Given the description of an element on the screen output the (x, y) to click on. 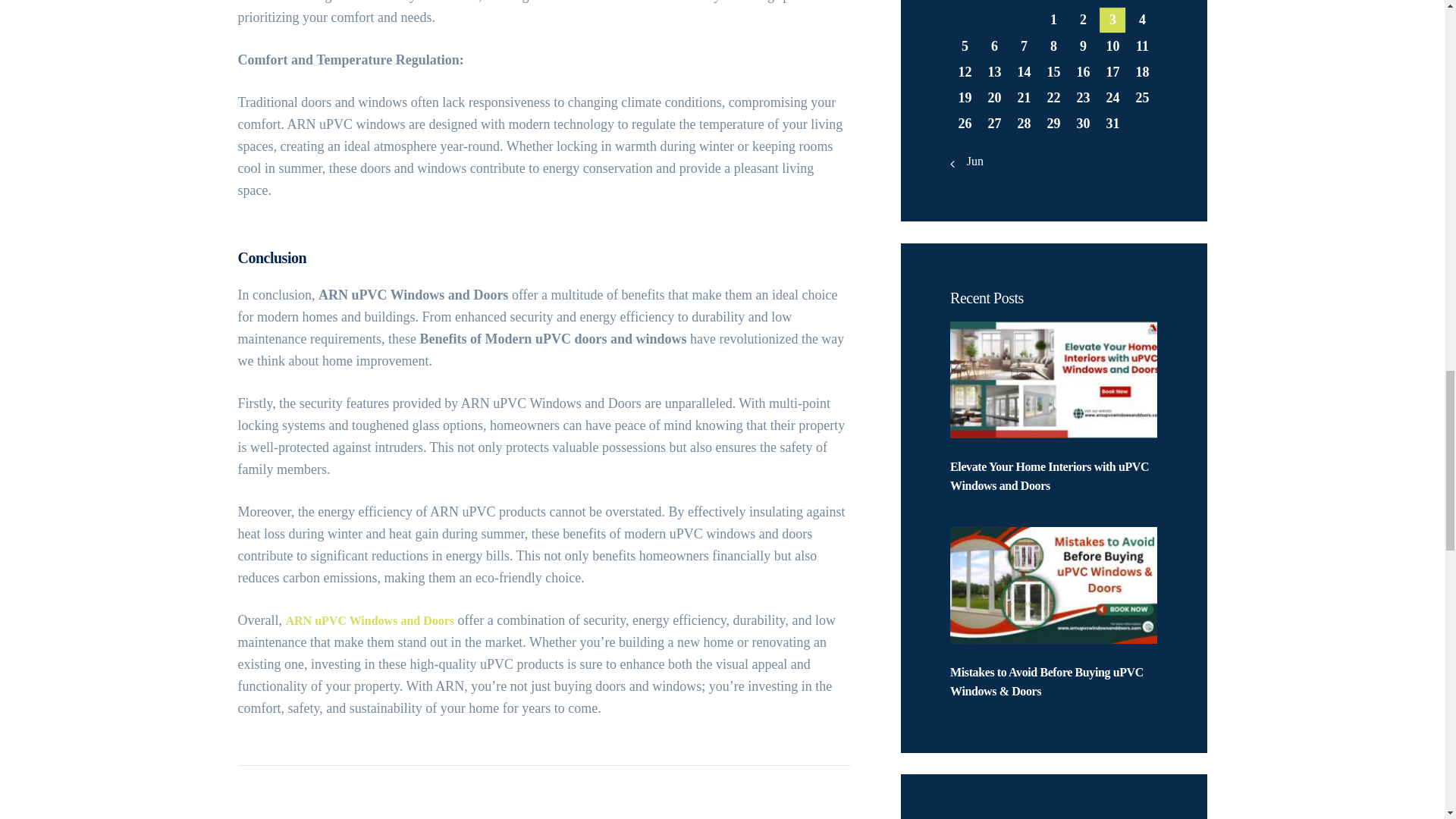
Thursday (1053, 3)
Tuesday (994, 3)
Friday (1082, 3)
Wednesday (1024, 3)
Sunday (1141, 3)
Saturday (1111, 3)
Monday (964, 3)
